Given the description of an element on the screen output the (x, y) to click on. 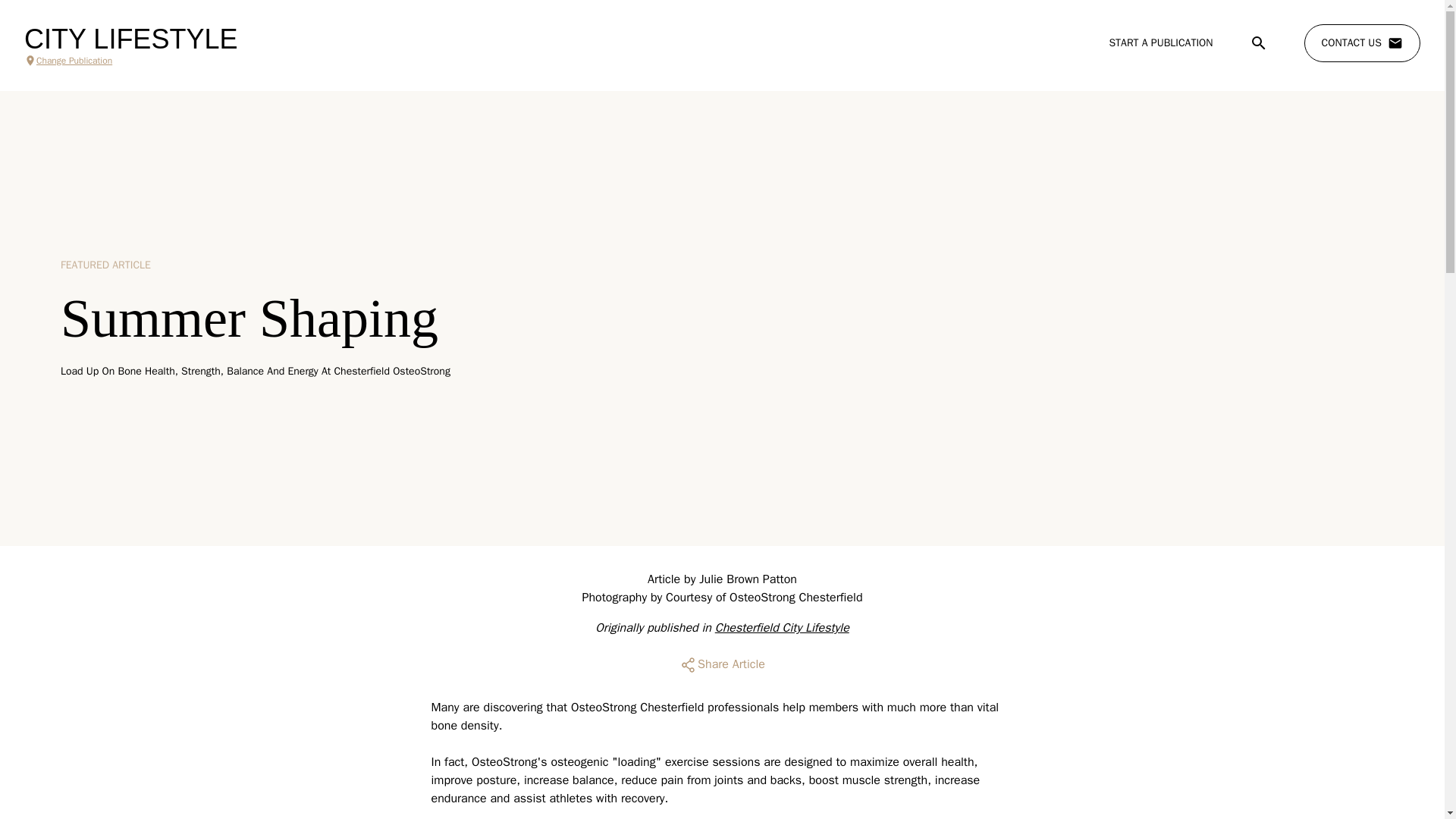
Chesterfield City Lifestyle (781, 627)
Change Publication (130, 60)
Share Article (722, 664)
START A PUBLICATION (1160, 42)
CONTACT US (1362, 43)
CITY LIFESTYLE (130, 39)
